Given the description of an element on the screen output the (x, y) to click on. 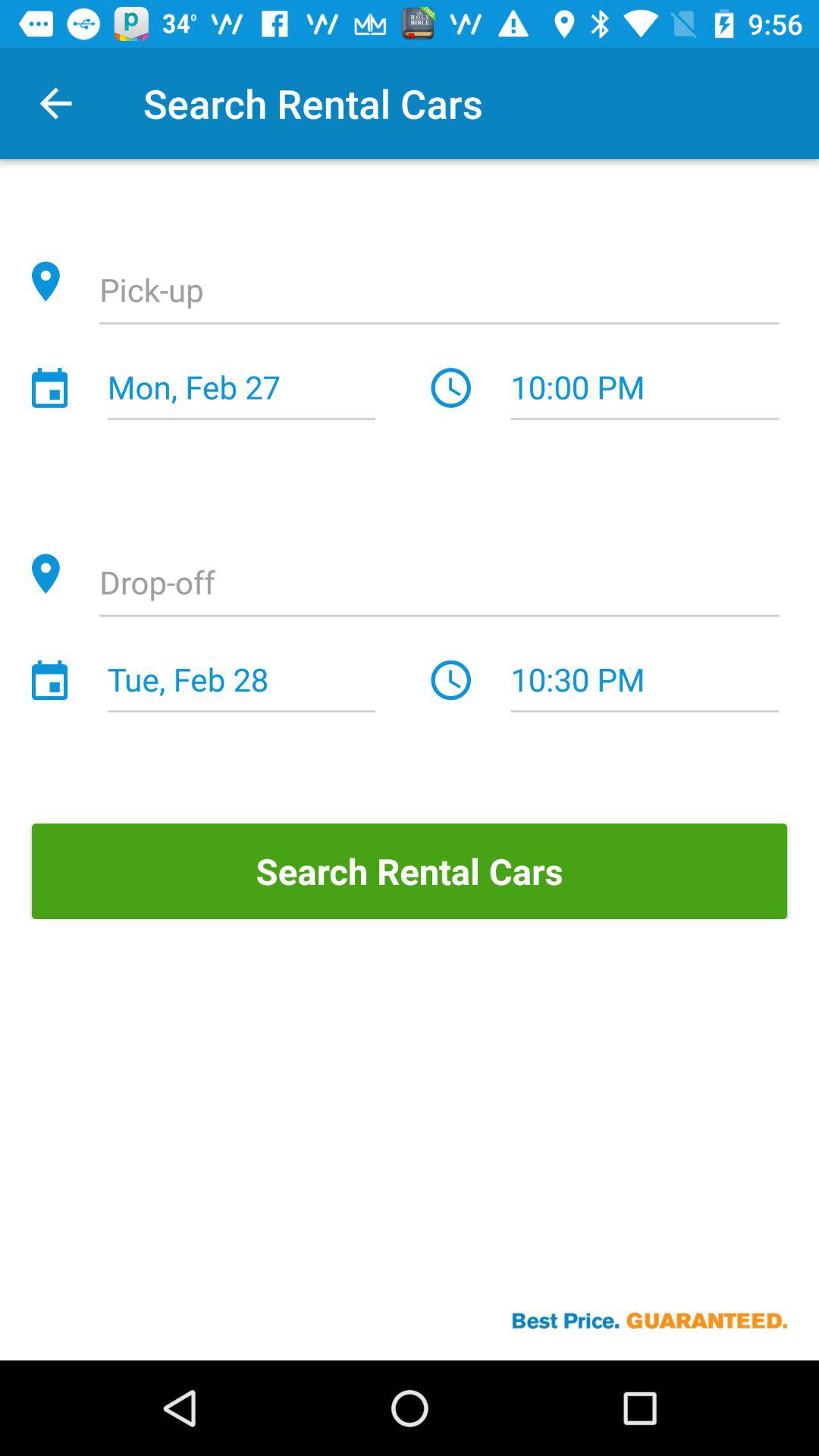
go to drop off (439, 584)
click on 1000 pm (644, 387)
click on calendar (49, 387)
select a timer icon which is before 1030 pm (450, 680)
select the search rental cars button on the page (409, 871)
select the location button which is before drop off (45, 574)
